Given the description of an element on the screen output the (x, y) to click on. 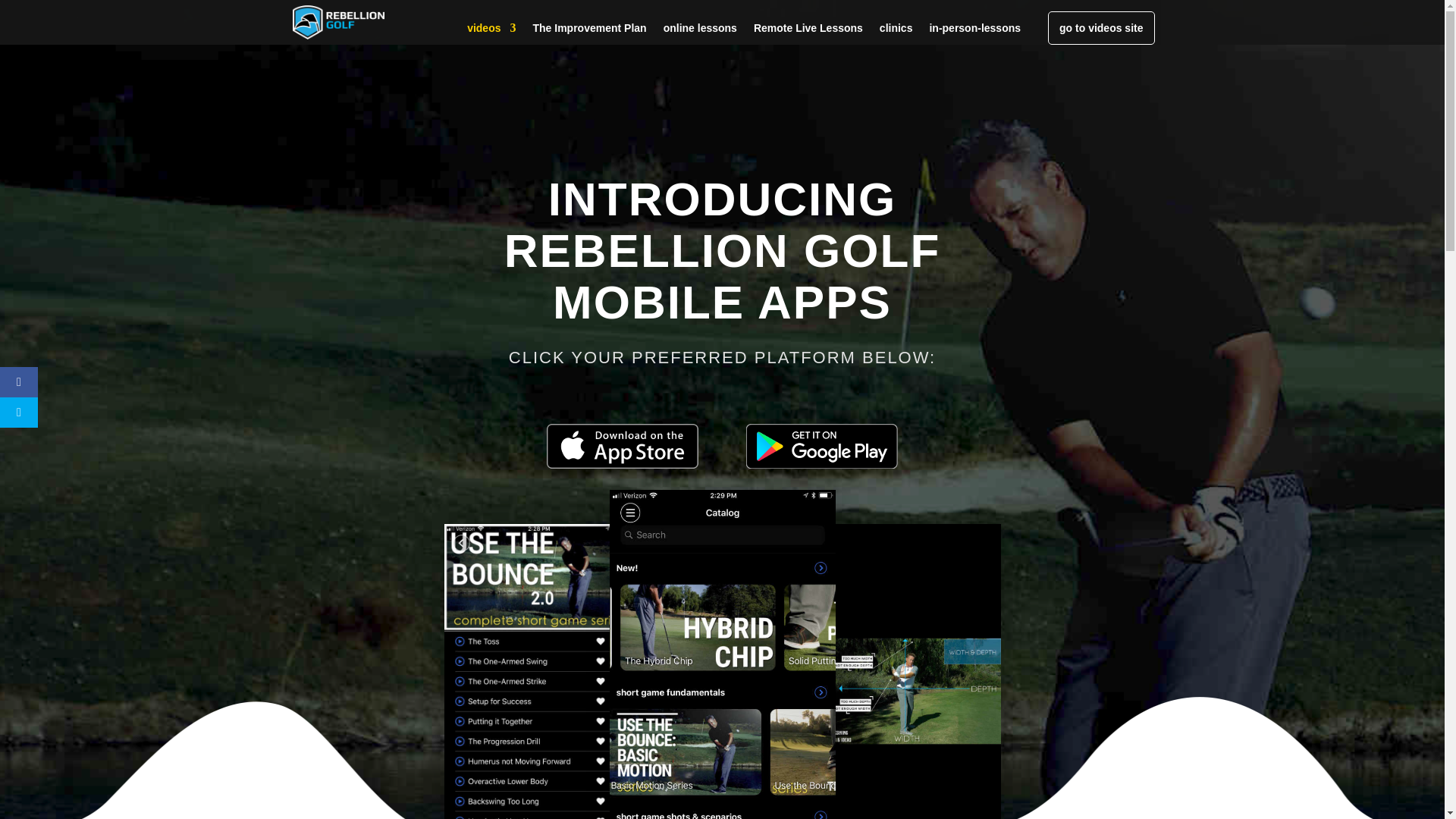
go to videos site (1101, 28)
in-person-lessons (974, 33)
The Improvement Plan (589, 33)
Remote Live Lessons (808, 33)
clinics (895, 33)
online lessons (699, 33)
videos (491, 33)
